Given the description of an element on the screen output the (x, y) to click on. 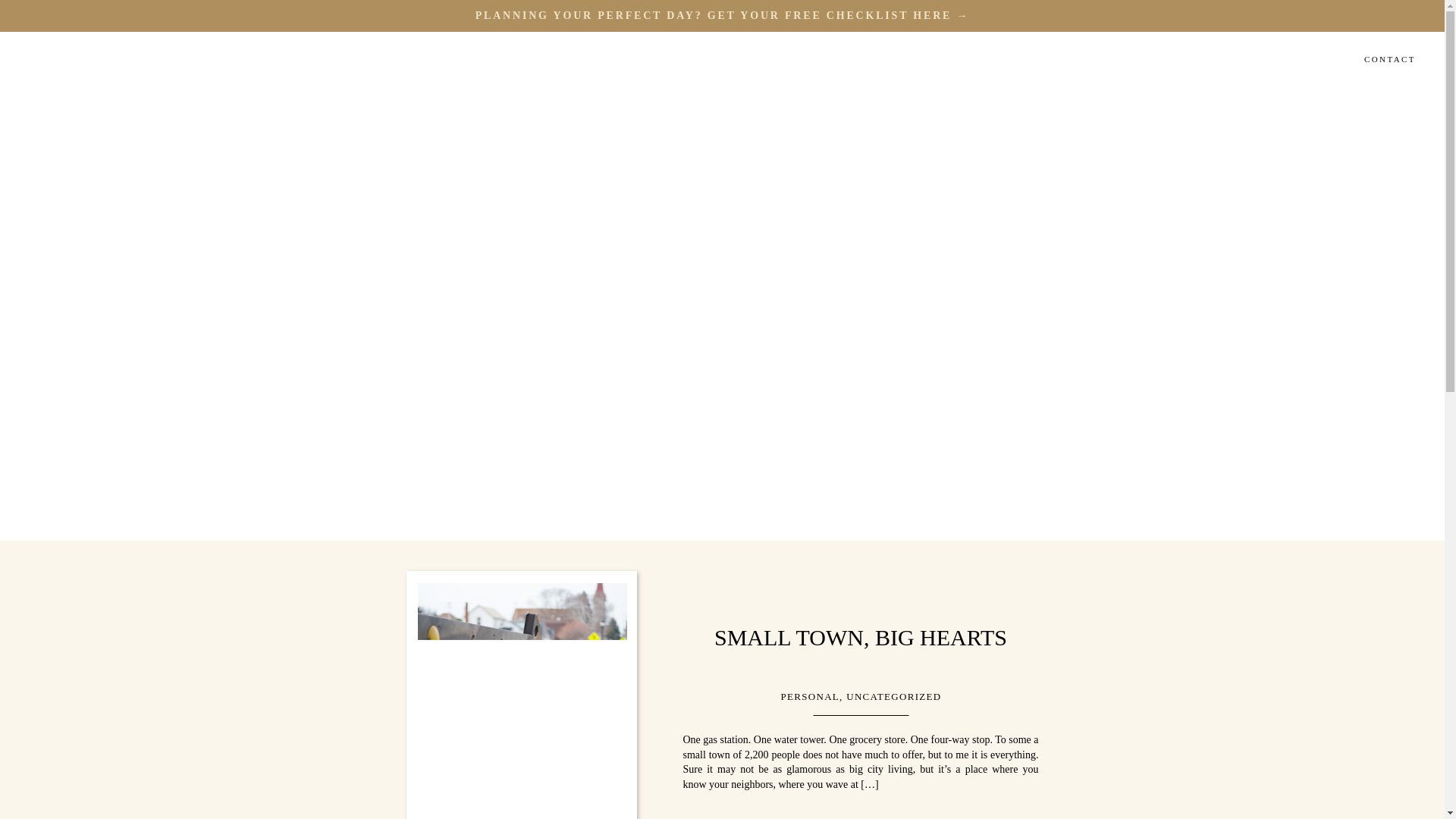
SHOP (1252, 61)
STUDIO (1174, 61)
BLOG (1315, 61)
ABOUT (981, 61)
PERSONAL (810, 696)
CONTACT (1388, 61)
HOME (911, 61)
UNCATEGORIZED (892, 696)
WORK WITH US (1080, 61)
SMALL TOWN, BIG HEARTS (860, 637)
